Given the description of an element on the screen output the (x, y) to click on. 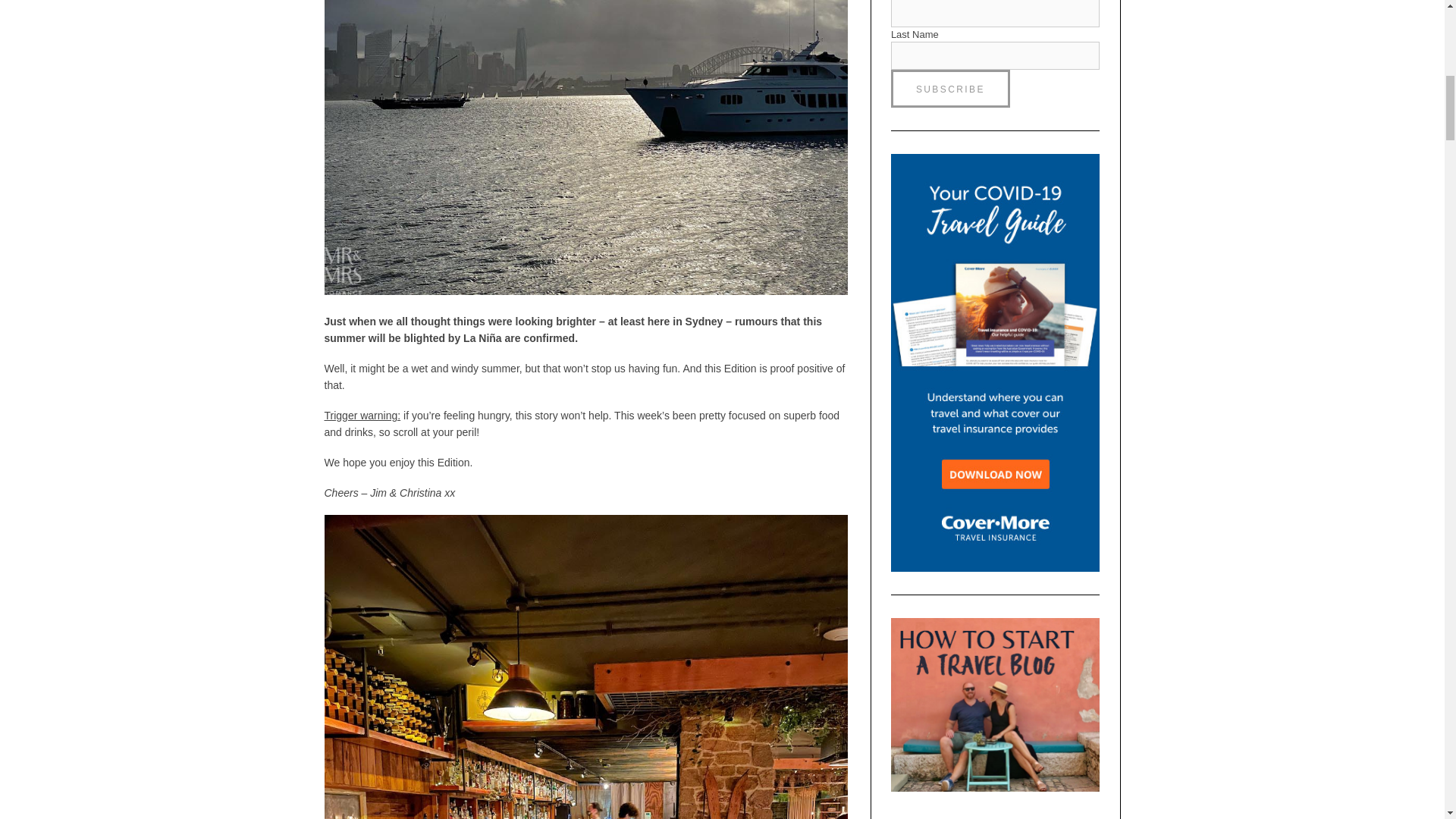
Subscribe (950, 88)
